Given the description of an element on the screen output the (x, y) to click on. 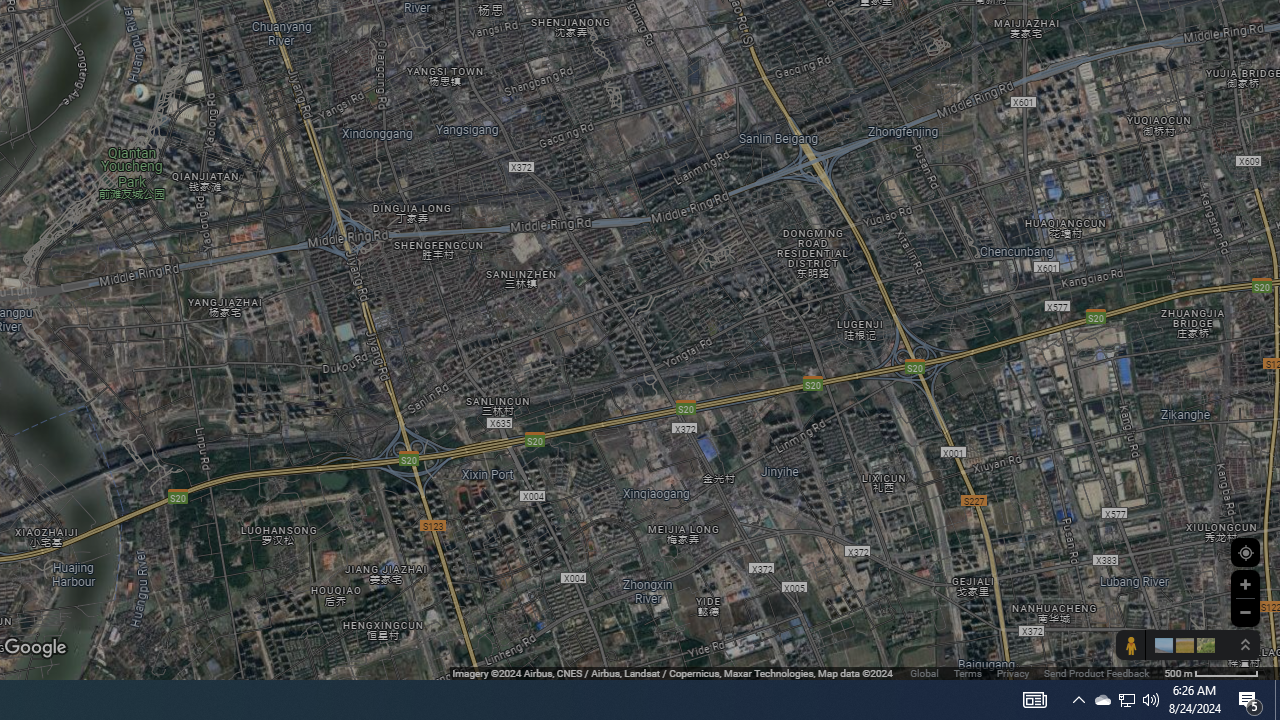
Zoom out (1245, 612)
Show imagery (1202, 645)
500 m (1211, 672)
Global (924, 672)
Show Your Location (1245, 552)
Send Product Feedback (1096, 672)
Show Street View coverage (1130, 645)
Zoom in (1245, 584)
